Given the description of an element on the screen output the (x, y) to click on. 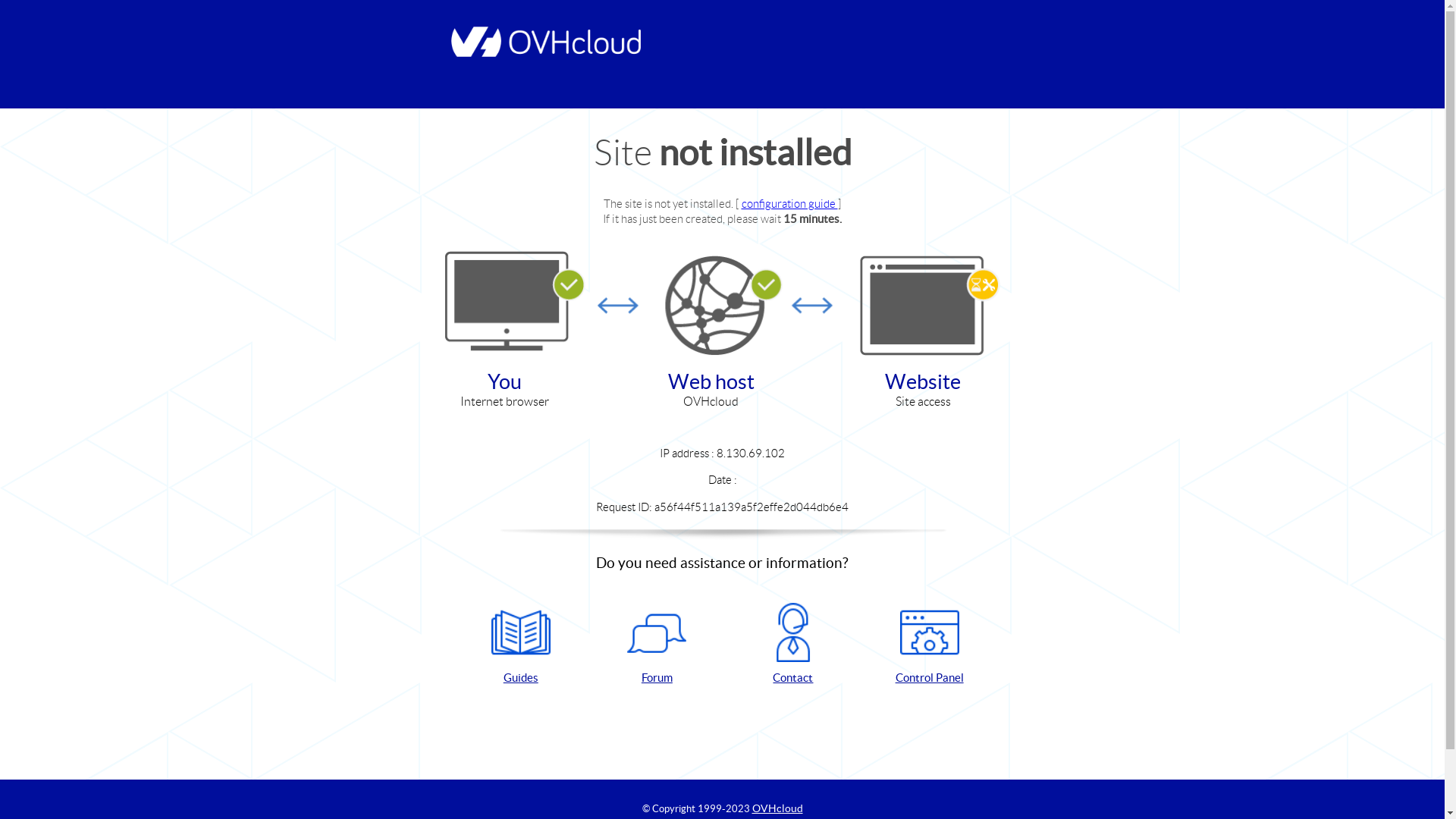
OVHcloud Element type: text (777, 808)
Forum Element type: text (656, 644)
Contact Element type: text (792, 644)
configuration guide Element type: text (789, 203)
Guides Element type: text (520, 644)
Control Panel Element type: text (929, 644)
